Given the description of an element on the screen output the (x, y) to click on. 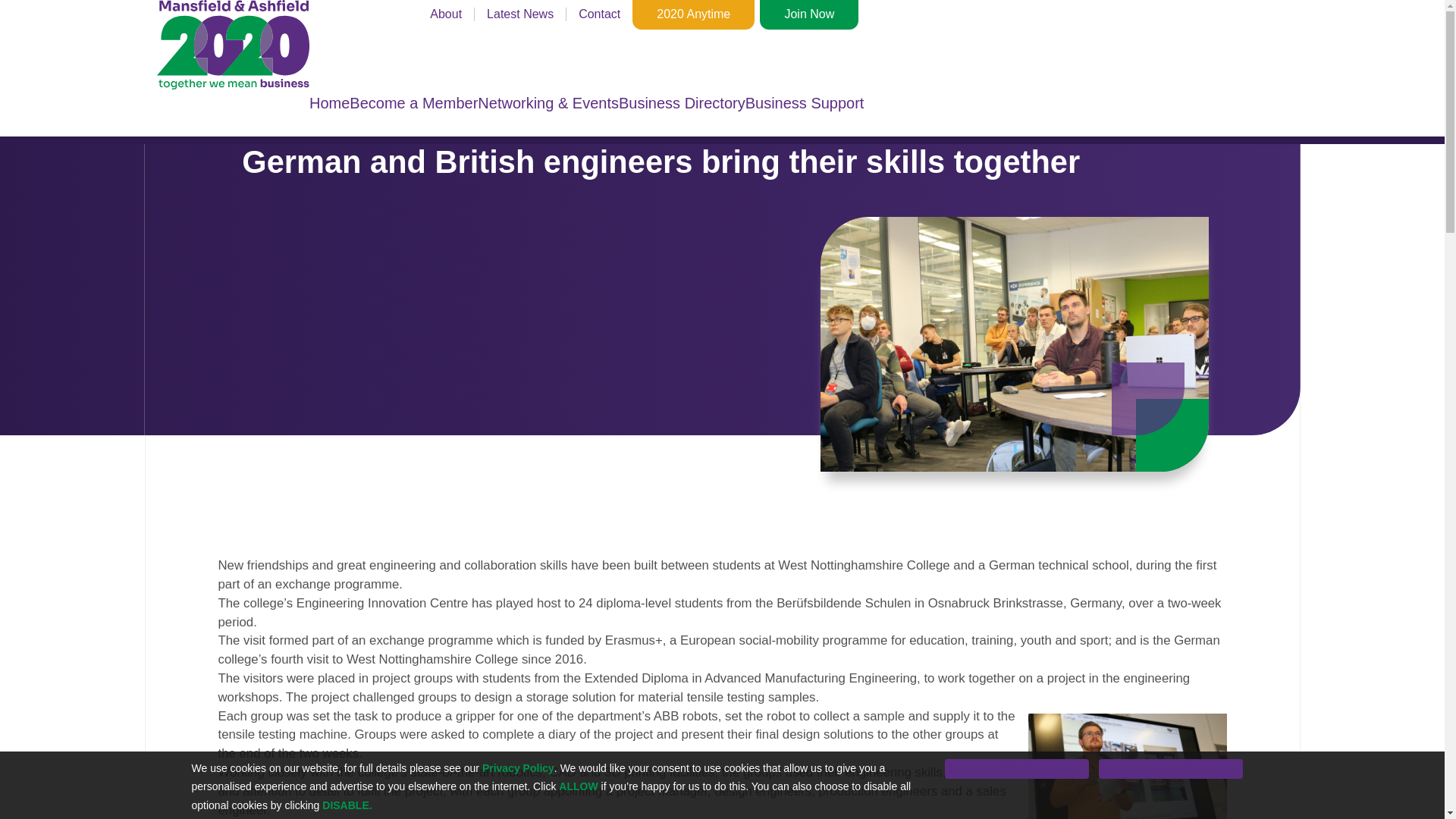
Home (328, 103)
Become a Member (413, 103)
Latest News (519, 13)
Business Directory (681, 103)
2020 Anytime (695, 14)
Contact (599, 13)
Join Now (811, 14)
Opens in a new window (695, 14)
Business Support (804, 103)
About (445, 13)
